Given the description of an element on the screen output the (x, y) to click on. 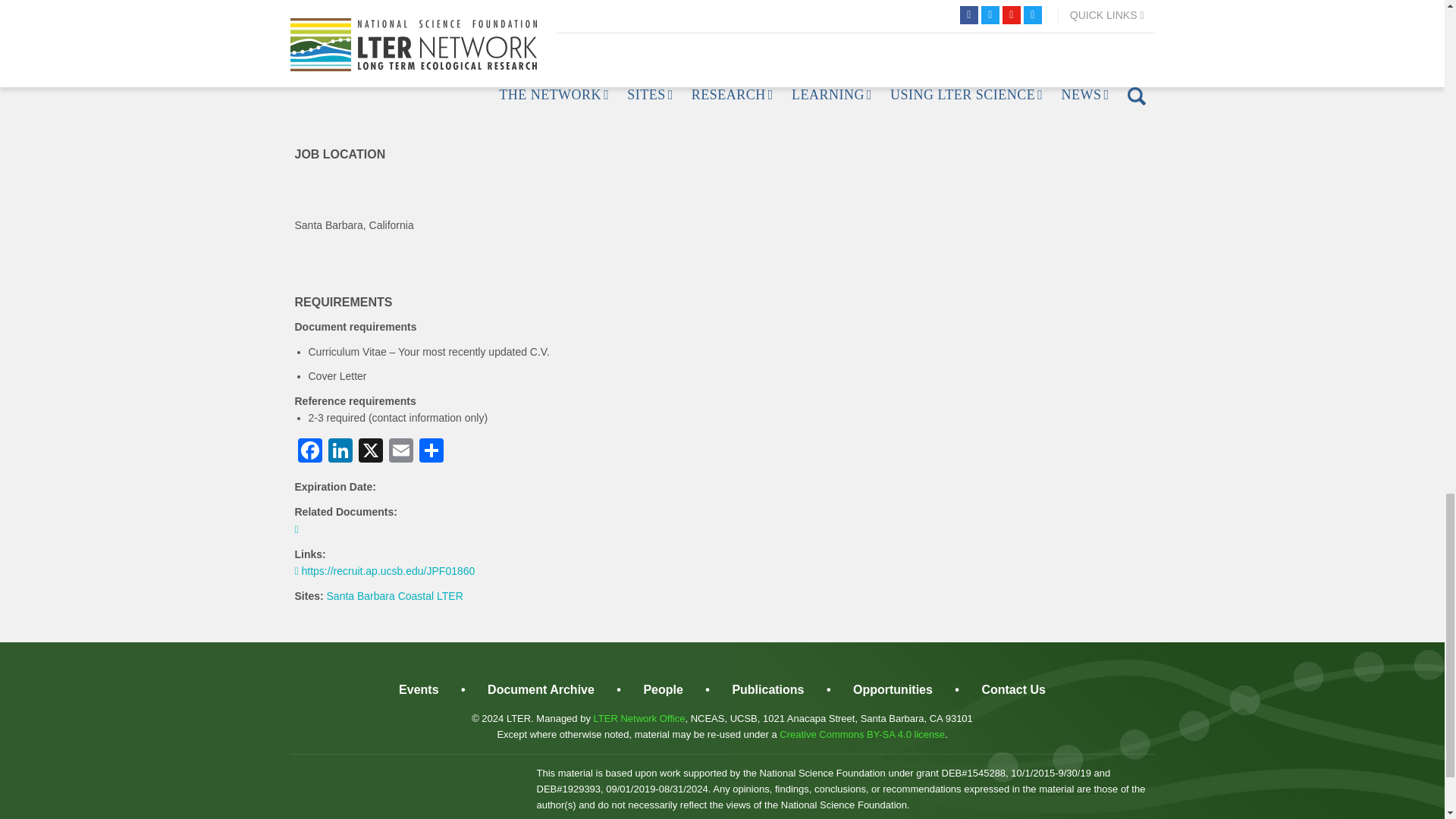
LinkedIn (339, 452)
X (370, 452)
Facebook (309, 452)
Email (399, 452)
